Given the description of an element on the screen output the (x, y) to click on. 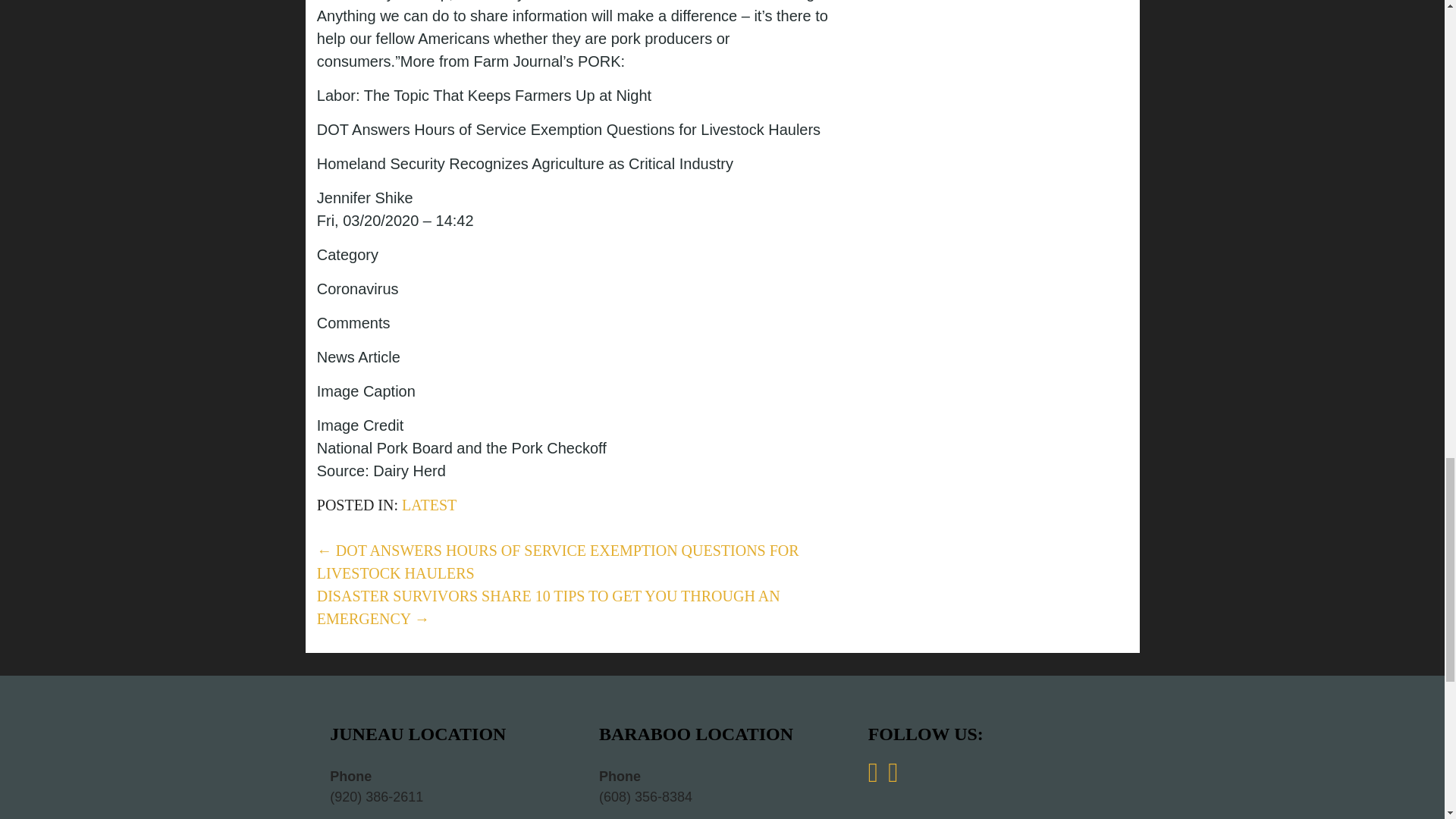
LATEST (429, 504)
